Given the description of an element on the screen output the (x, y) to click on. 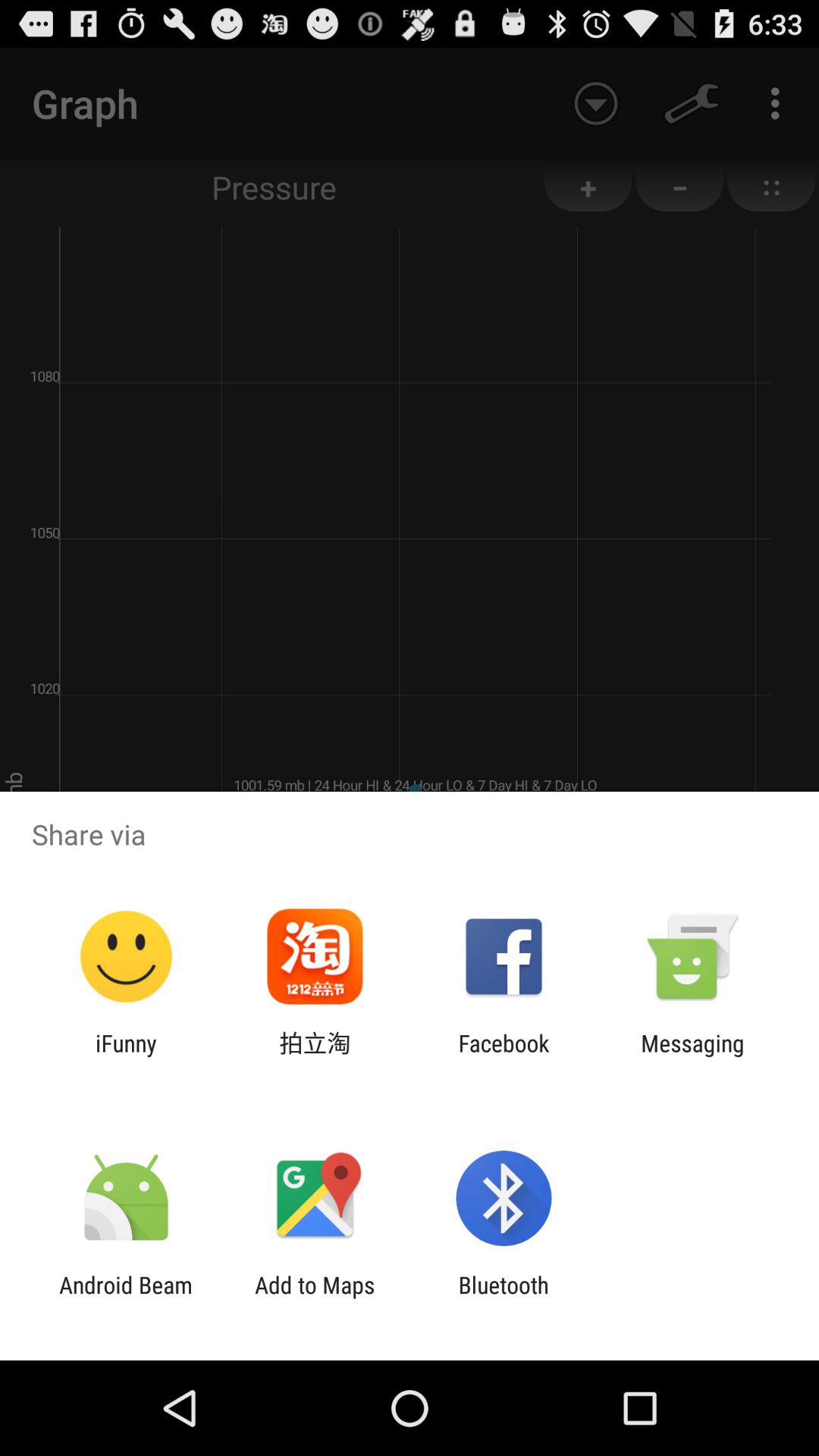
press icon to the left of bluetooth (314, 1298)
